Given the description of an element on the screen output the (x, y) to click on. 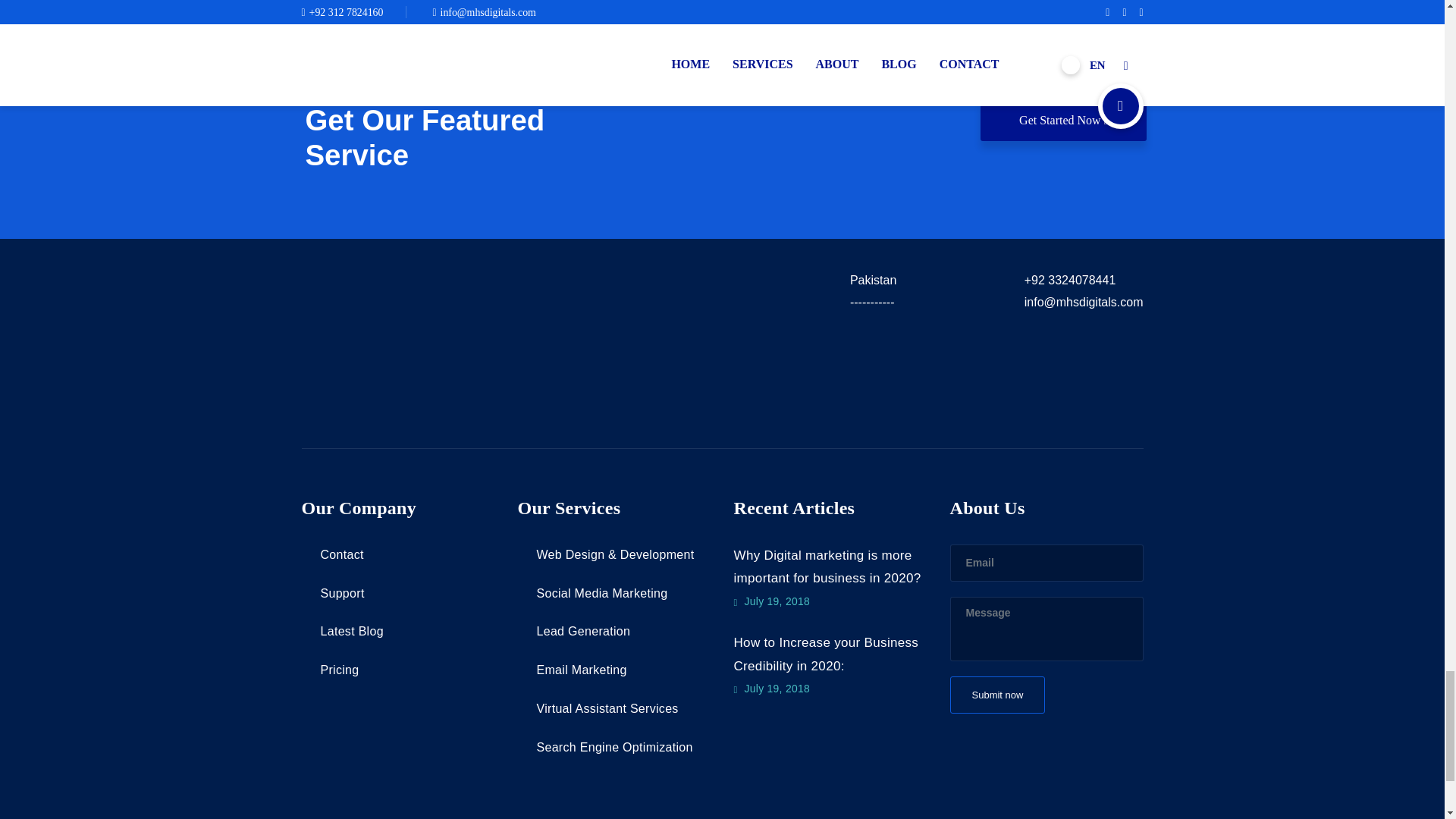
Pricing (330, 669)
Contact (332, 554)
Latest Blog (342, 631)
Submit now (997, 694)
Get Started Now (1063, 119)
Support (333, 593)
